Given the description of an element on the screen output the (x, y) to click on. 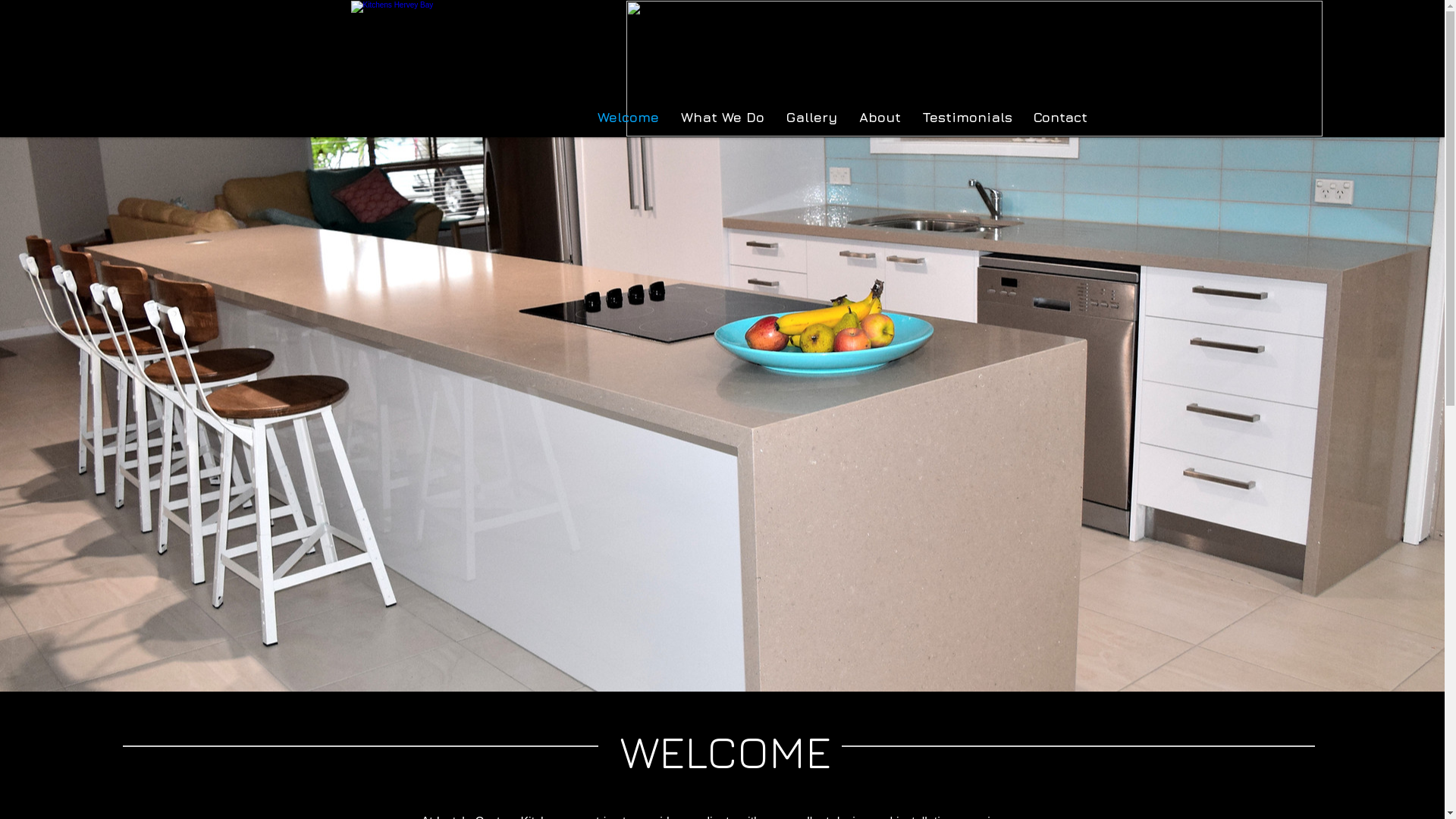
Welcome Element type: text (623, 116)
Testimonials Element type: text (963, 116)
Instyle Custom Kitchens Element type: hover (480, 68)
What We Do Element type: text (718, 116)
About Element type: text (876, 116)
Contact Element type: text (1056, 116)
Gallery Element type: text (807, 116)
